Given the description of an element on the screen output the (x, y) to click on. 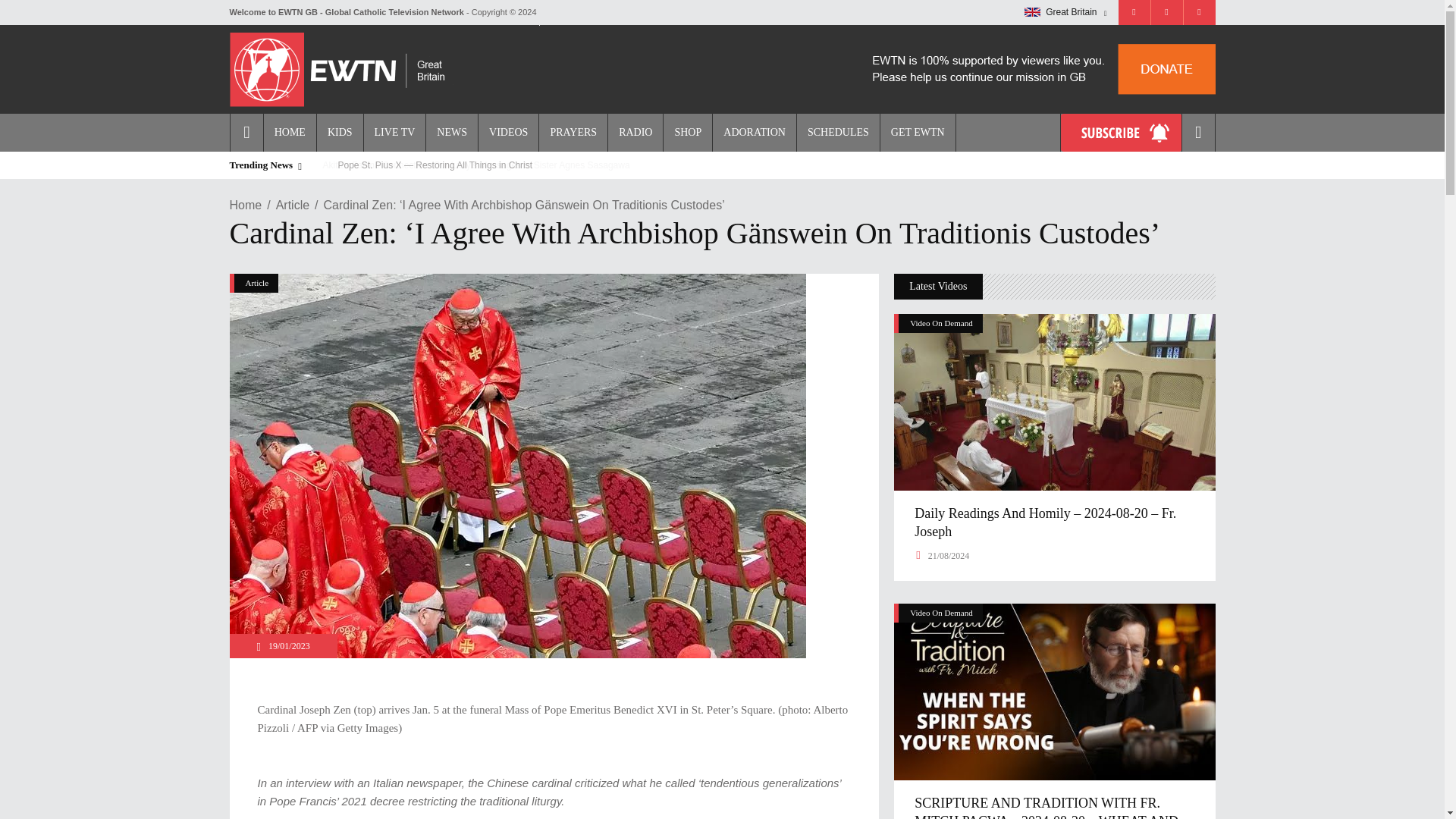
NEWS (451, 132)
LIVE TV (394, 132)
KIDS (338, 132)
  Great Britain (1065, 12)
GET EWTN (917, 132)
VIDEOS (507, 132)
HOME (289, 132)
ADORATION (753, 132)
SHOP (686, 132)
RADIO (634, 132)
